Given the description of an element on the screen output the (x, y) to click on. 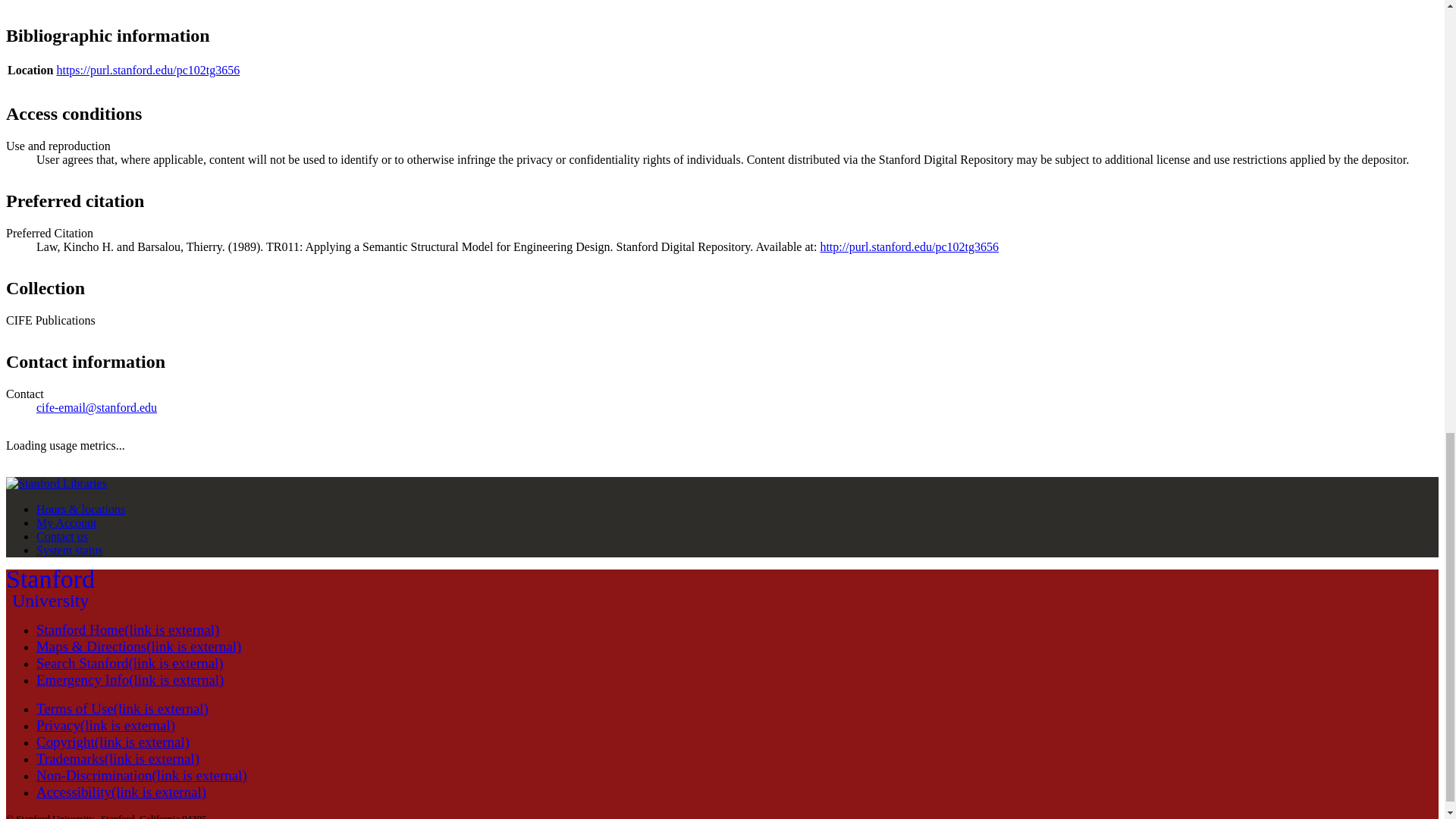
Non-discrimination policy (141, 774)
Privacy and cookie policy (105, 725)
Terms of use for sites (122, 708)
Report web accessibility issues (121, 791)
My Account (66, 522)
Report alleged copyright infringement (112, 741)
System status (69, 549)
Ownership and use of Stanford trademarks and images (117, 758)
Contact us (49, 588)
